Given the description of an element on the screen output the (x, y) to click on. 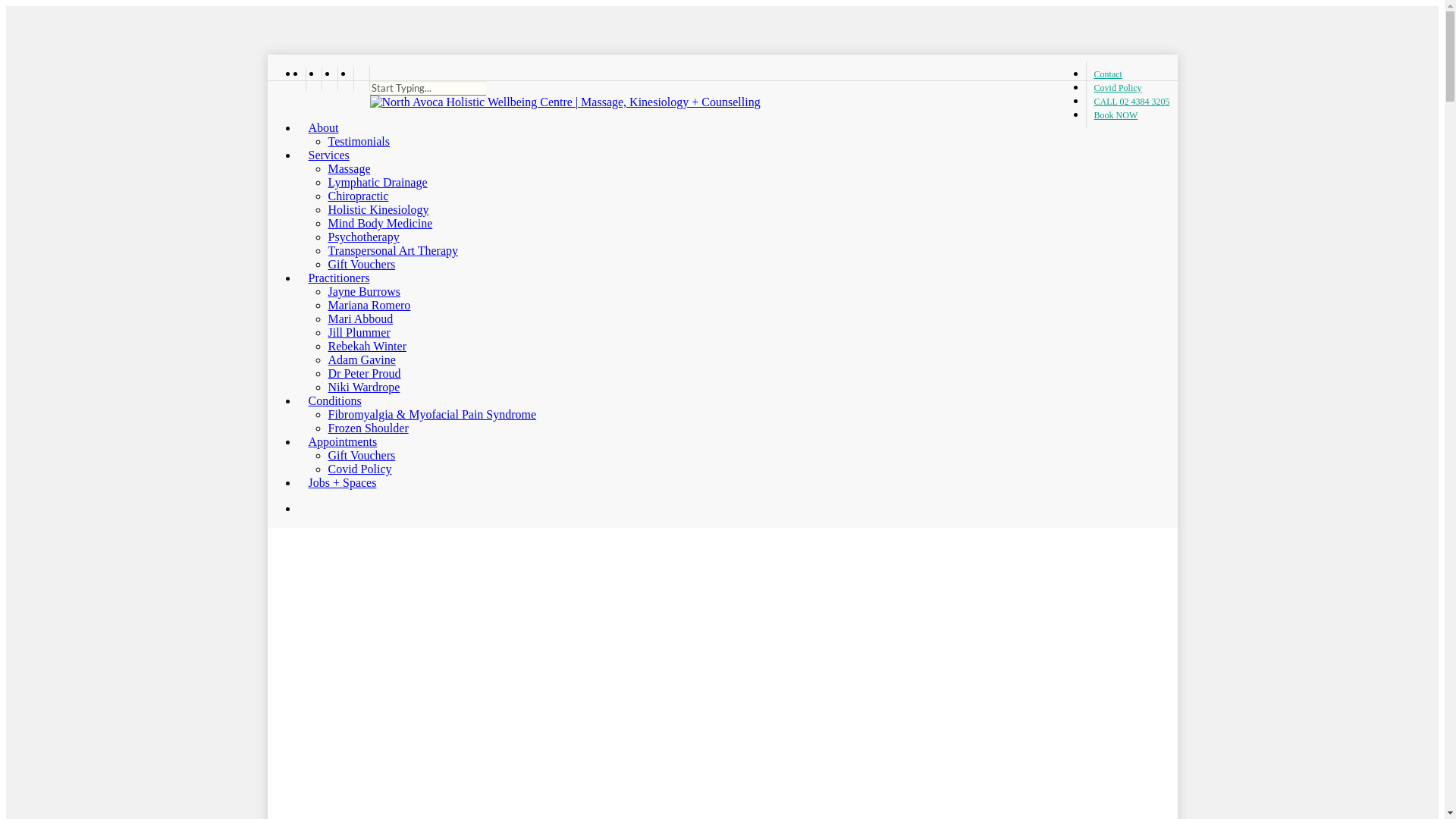
twitter Element type: text (300, 78)
Gift Vouchers Element type: text (361, 263)
Lymphatic Drainage Element type: text (376, 181)
phone Element type: text (344, 78)
Massage Element type: text (348, 168)
Mari Abboud Element type: text (359, 318)
Frozen Shoulder Element type: text (367, 427)
Conditions Element type: text (328, 400)
Gift Vouchers Element type: text (361, 454)
Skip to main content Element type: text (5, 5)
Psychotherapy Element type: text (362, 236)
Mariana Romero Element type: text (368, 304)
Chiropractic Element type: text (357, 195)
Appointments Element type: text (336, 441)
Fibromyalgia & Myofacial Pain Syndrome Element type: text (431, 413)
Covid Policy Element type: text (359, 468)
Covid Policy Element type: text (1117, 87)
Holistic Kinesiology Element type: text (377, 209)
Adam Gavine Element type: text (361, 359)
Dr Peter Proud Element type: text (363, 373)
Mind Body Medicine Element type: text (379, 222)
Niki Wardrope Element type: text (363, 386)
Practitioners Element type: text (333, 277)
Book NOW Element type: text (1111, 115)
Jill Plummer Element type: text (358, 332)
Transpersonal Art Therapy Element type: text (392, 250)
email Element type: text (361, 78)
CALL 02 4384 3205 Element type: text (1131, 101)
Jobs + Spaces Element type: text (336, 482)
Contact Element type: text (1107, 74)
About Element type: text (317, 127)
Testimonials Element type: text (358, 140)
Rebekah Winter Element type: text (366, 345)
Jayne Burrows Element type: text (363, 291)
facebook Element type: text (312, 78)
Services Element type: text (322, 154)
linkedin Element type: text (329, 78)
